Given the description of an element on the screen output the (x, y) to click on. 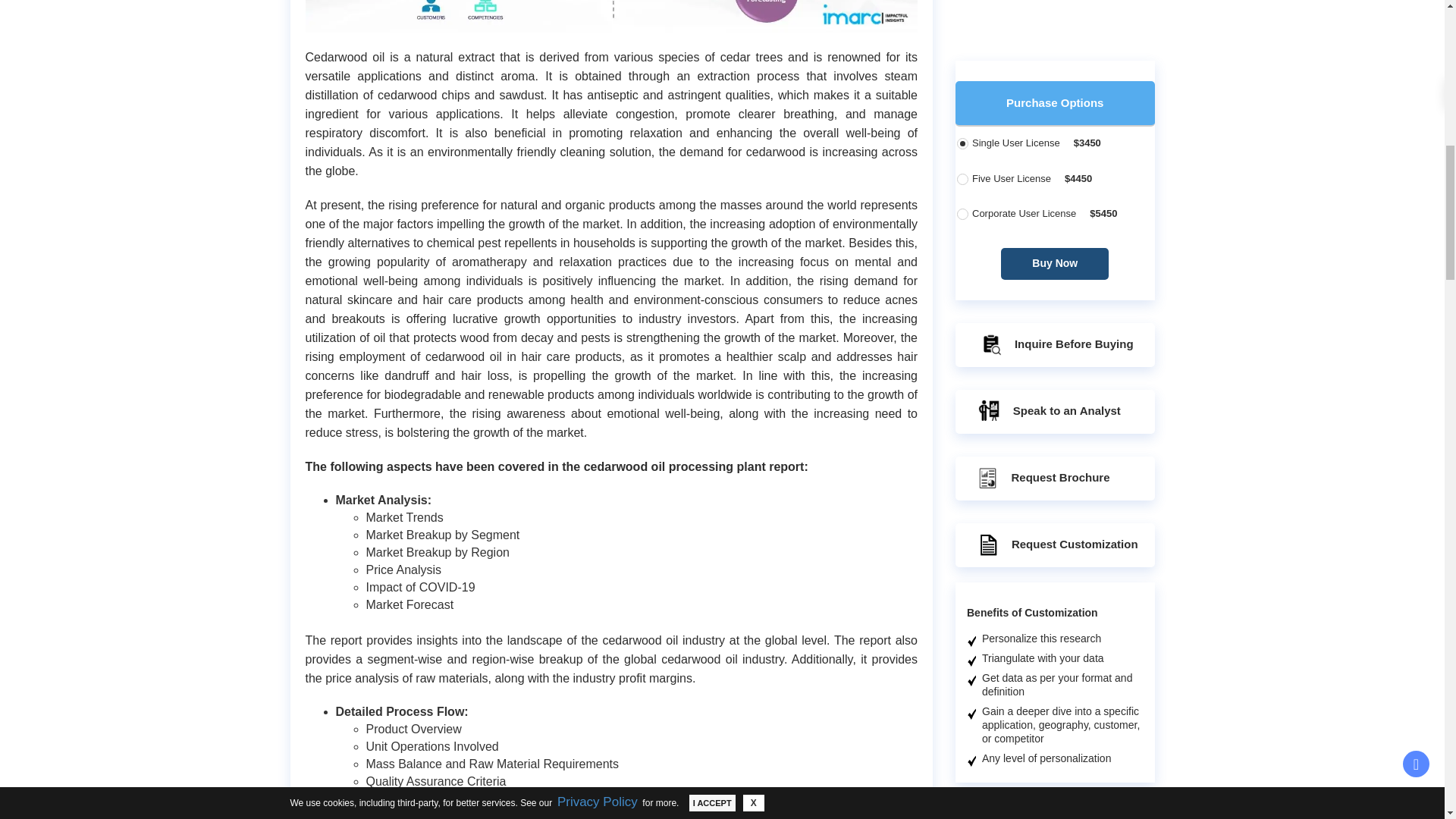
Know more (1081, 807)
